Given the description of an element on the screen output the (x, y) to click on. 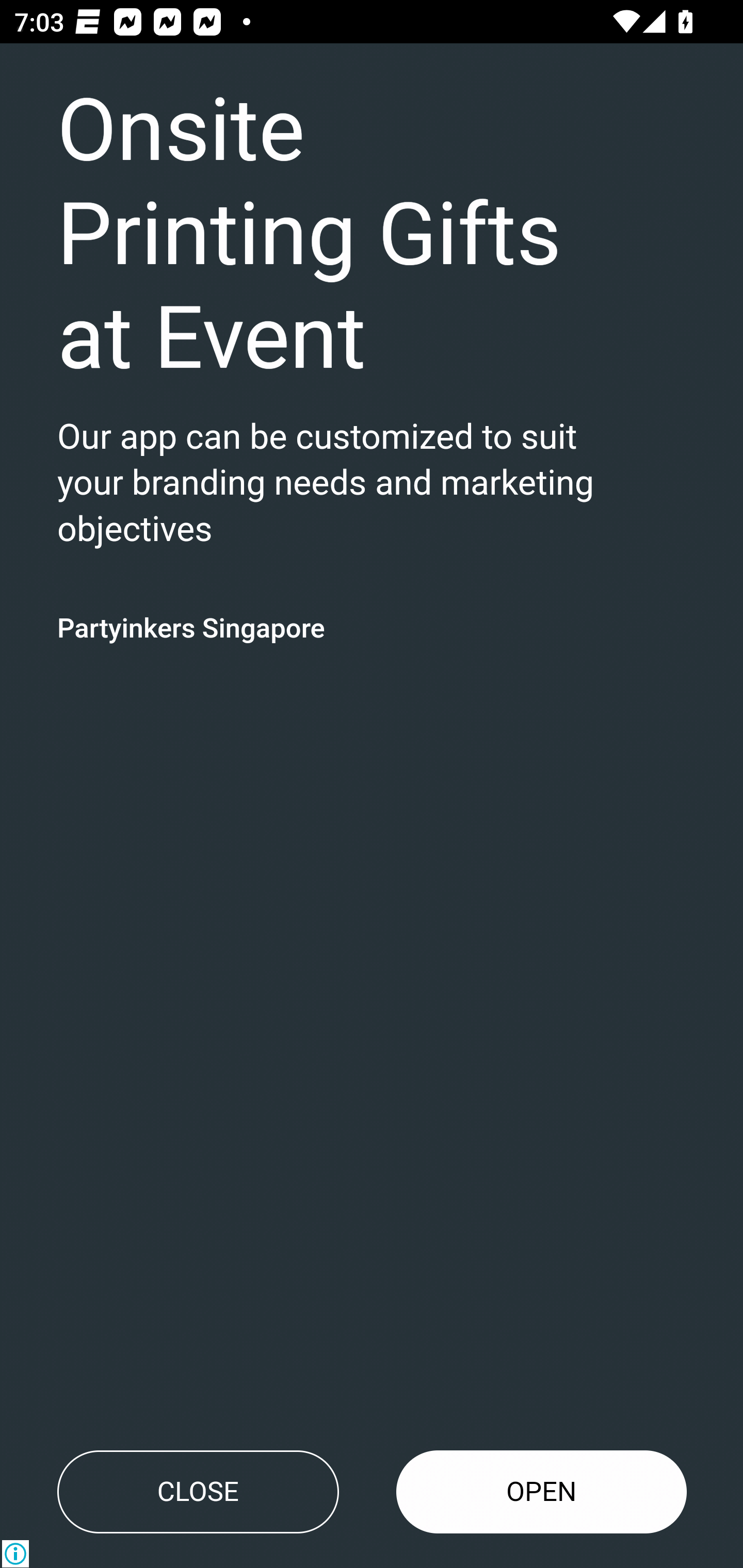
Partyinkers Singapore (190, 626)
CLOSE (197, 1491)
OPEN (541, 1491)
